Given the description of an element on the screen output the (x, y) to click on. 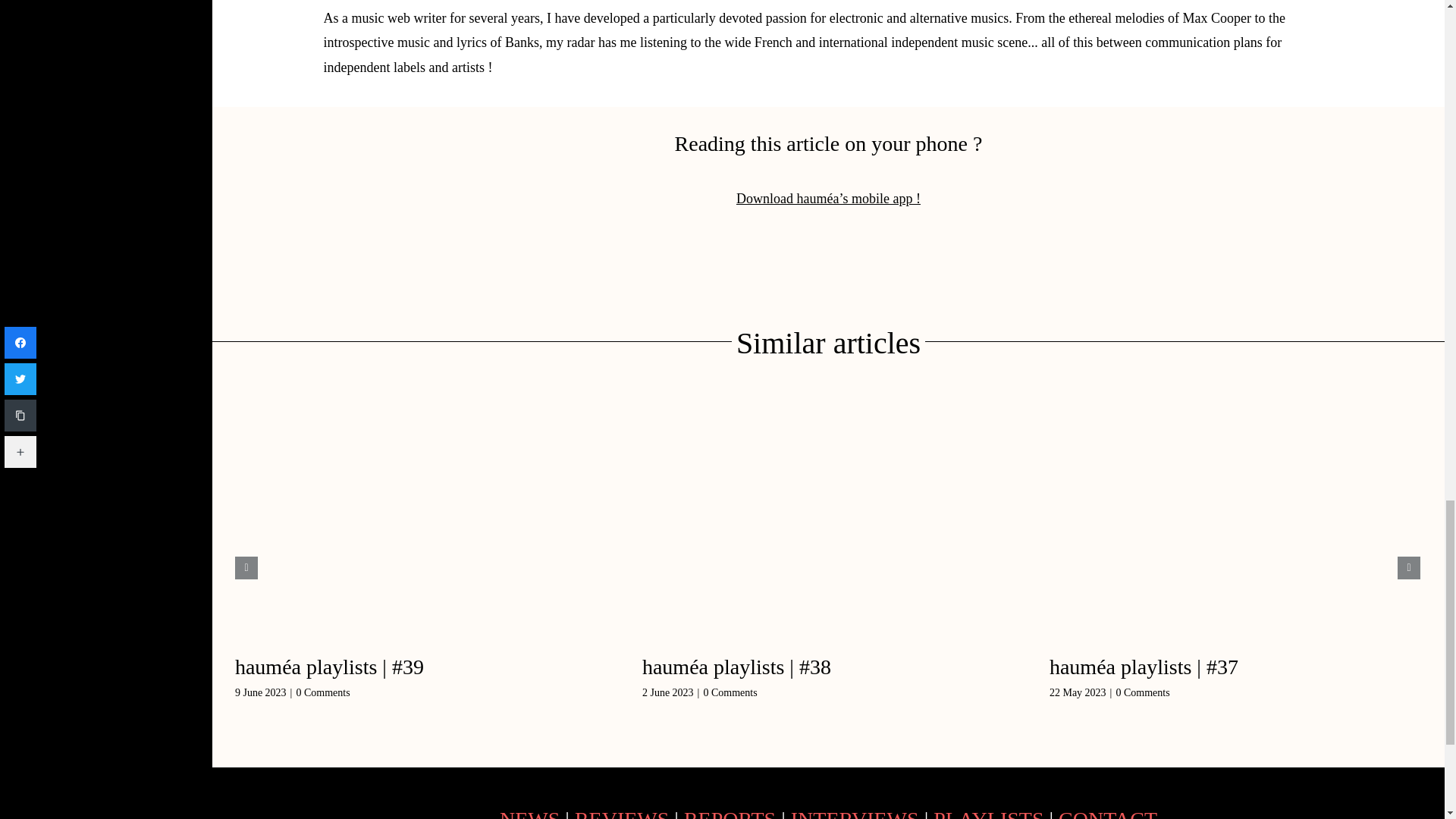
0 Comments (730, 692)
0 Comments (322, 692)
